Given the description of an element on the screen output the (x, y) to click on. 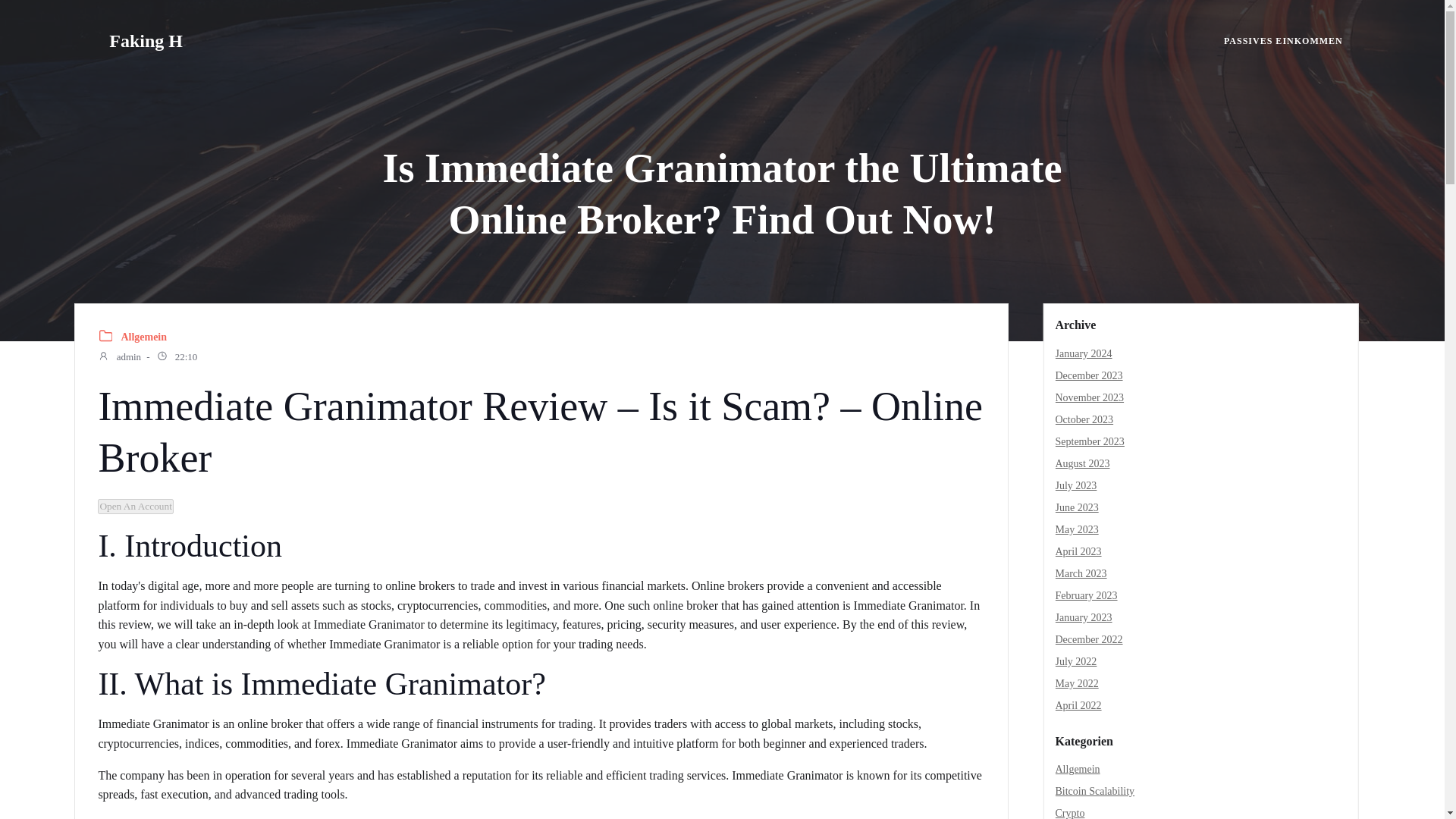
Open An Account (135, 506)
July 2023 (1076, 485)
September 2023 (1089, 441)
January 2024 (1083, 353)
March 2023 (1080, 573)
December 2022 (1088, 639)
admin (119, 357)
Open An Account (135, 504)
August 2023 (1082, 463)
November 2023 (1089, 397)
February 2023 (1086, 595)
Bitcoin Scalability (1095, 790)
May 2022 (1077, 683)
October 2023 (1084, 419)
Allgemein (143, 337)
